Given the description of an element on the screen output the (x, y) to click on. 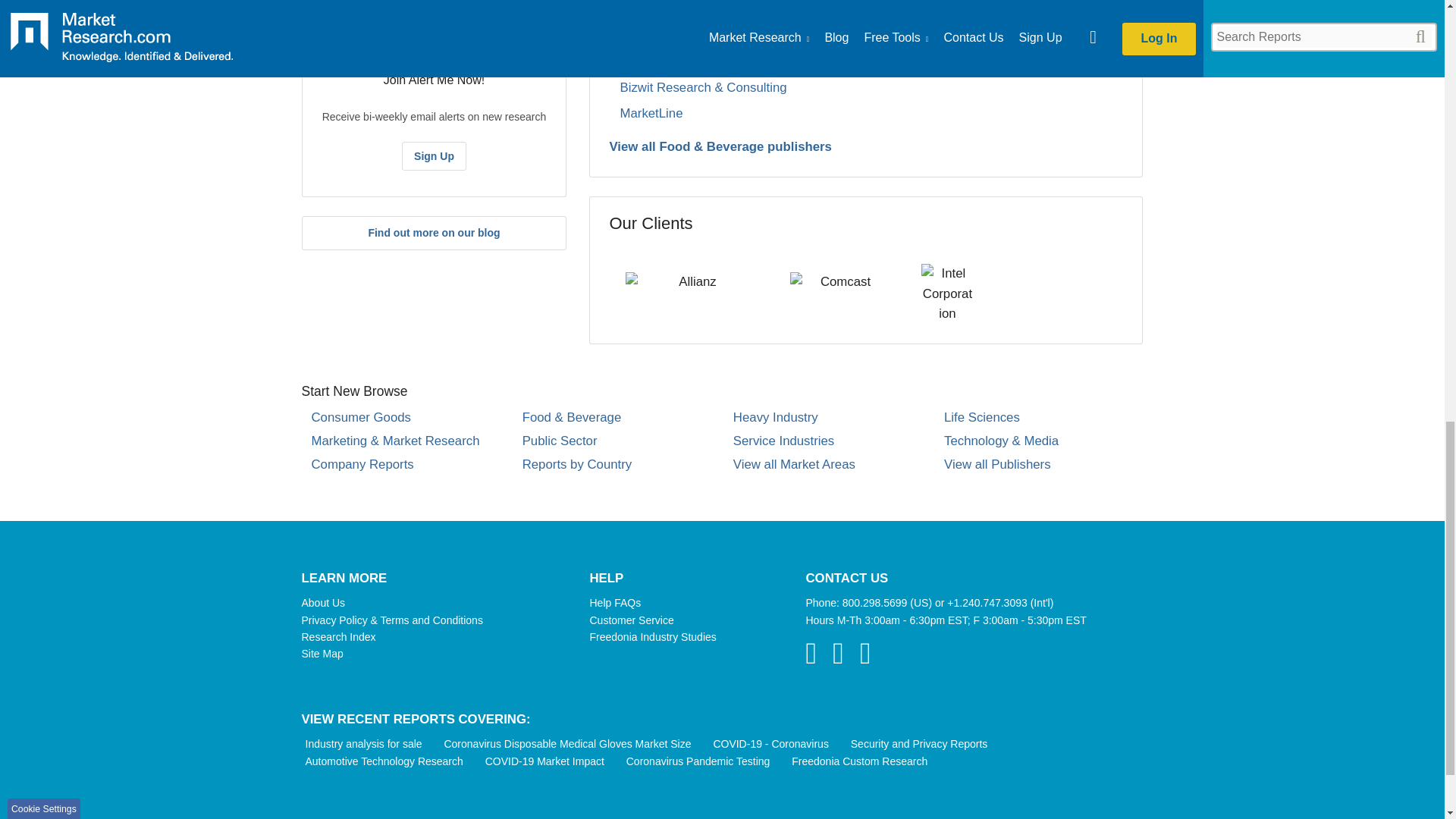
Daedal Research (668, 10)
